Given the description of an element on the screen output the (x, y) to click on. 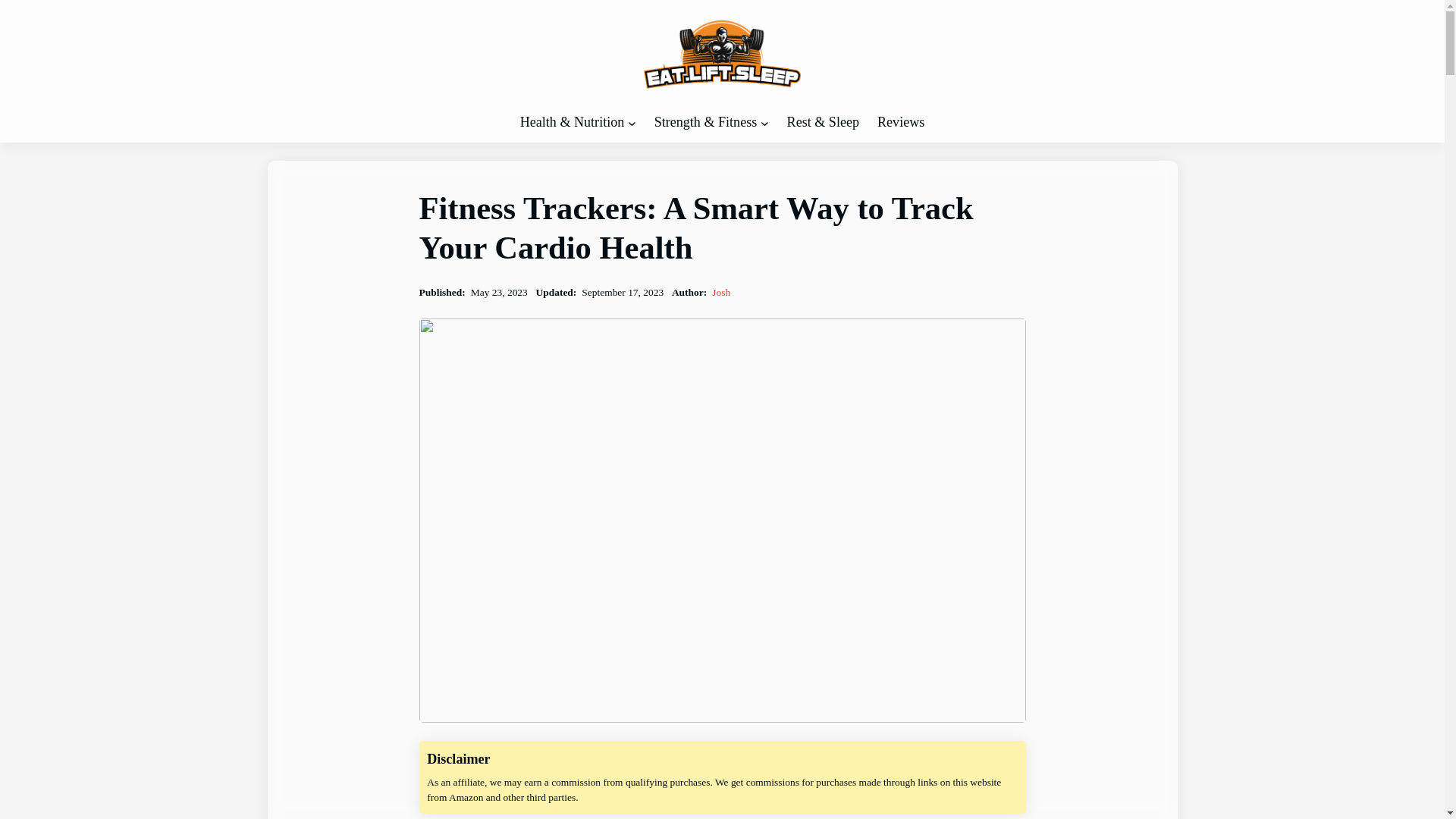
Reviews (900, 122)
Josh (720, 292)
